Given the description of an element on the screen output the (x, y) to click on. 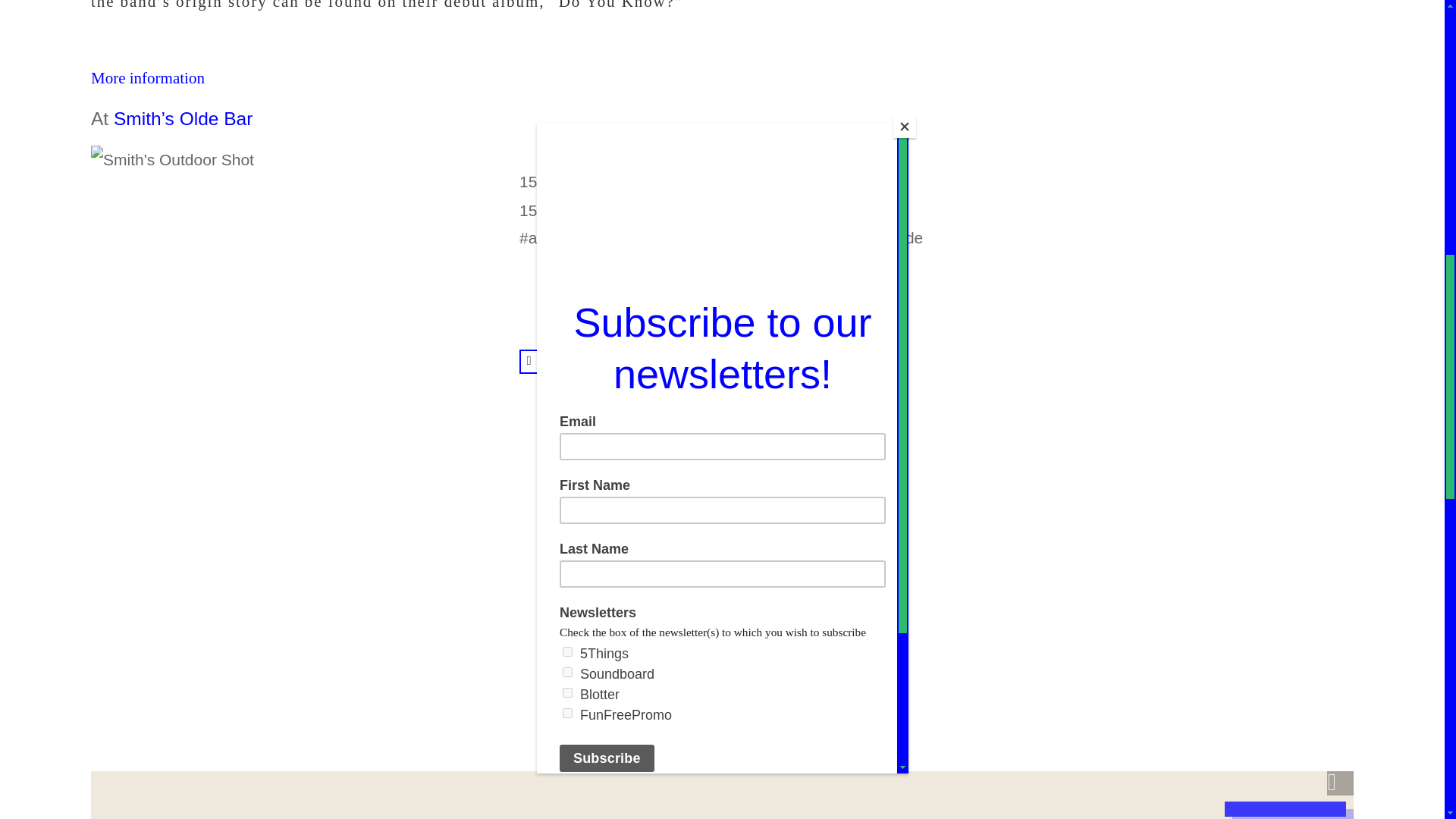
3rd party ad content (1149, 149)
Fullscreen (1340, 783)
More information (147, 77)
sobatl.com (590, 211)
